Given the description of an element on the screen output the (x, y) to click on. 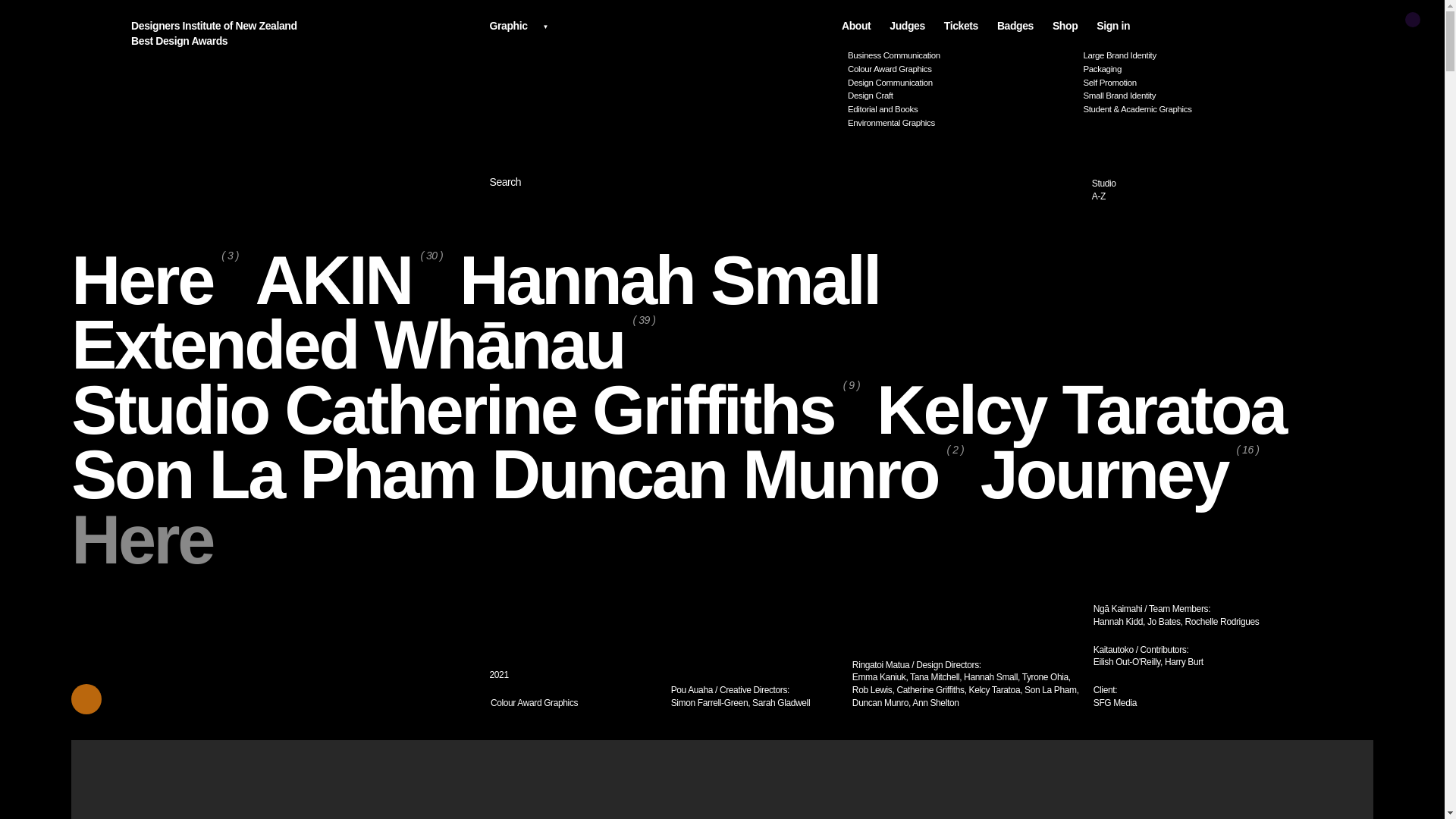
Business Communication (960, 55)
Shop (1064, 26)
Here 3 (154, 280)
Graphic (662, 24)
Judges (906, 26)
Editorial and Books (960, 109)
Design Craft (960, 95)
Colour Award Graphics (960, 69)
Studio Catherine Griffiths 9 (465, 410)
Duncan Munro 2 (727, 475)
AKIN 30 (1205, 190)
Design Communication (350, 280)
Hannah Small (960, 82)
About (669, 280)
